Given the description of an element on the screen output the (x, y) to click on. 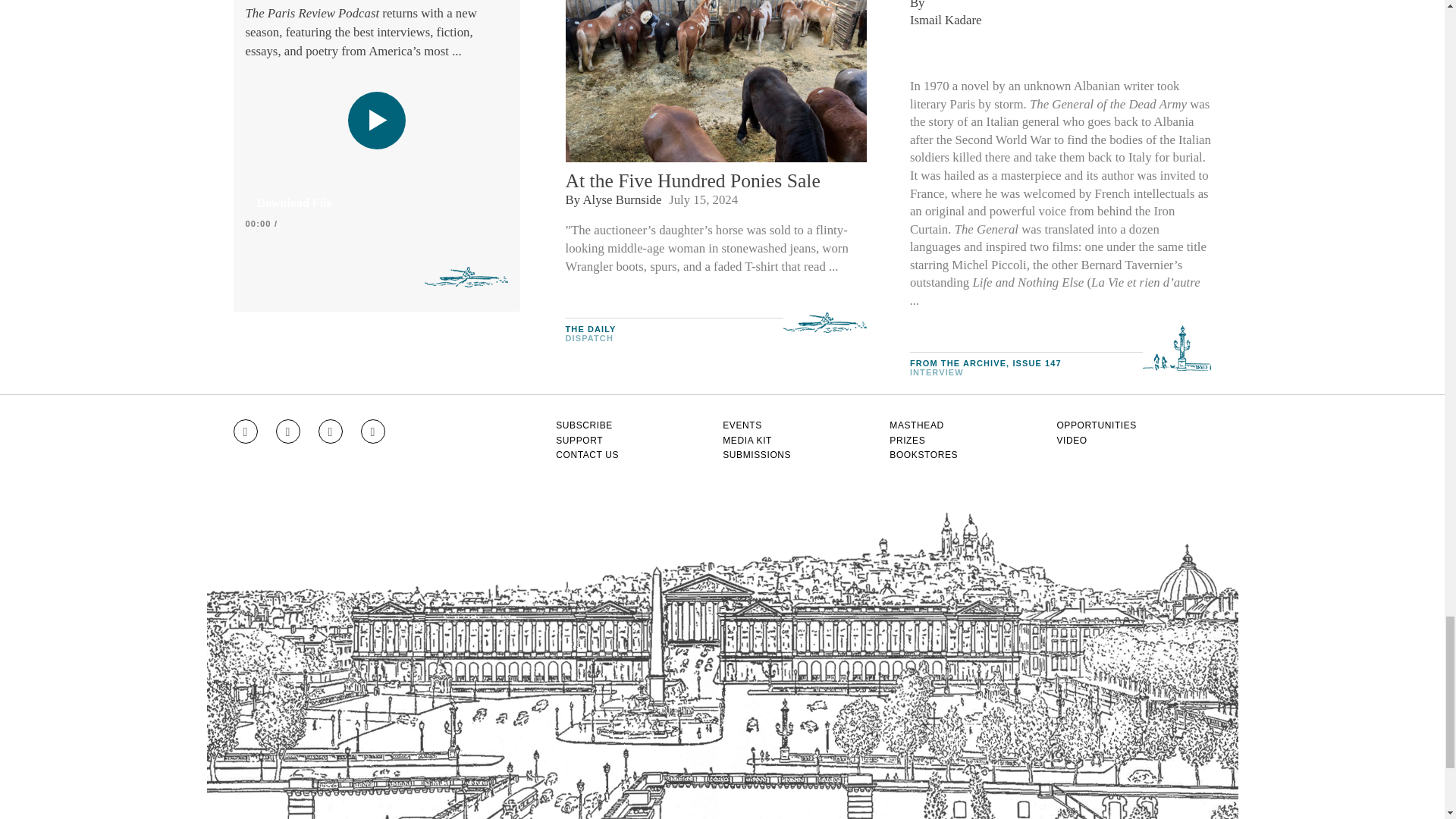
Go to Instagram feed (244, 431)
Go to Twitter feed (330, 431)
Go to RSS feed (373, 431)
Go to Facebook page (287, 431)
